Given the description of an element on the screen output the (x, y) to click on. 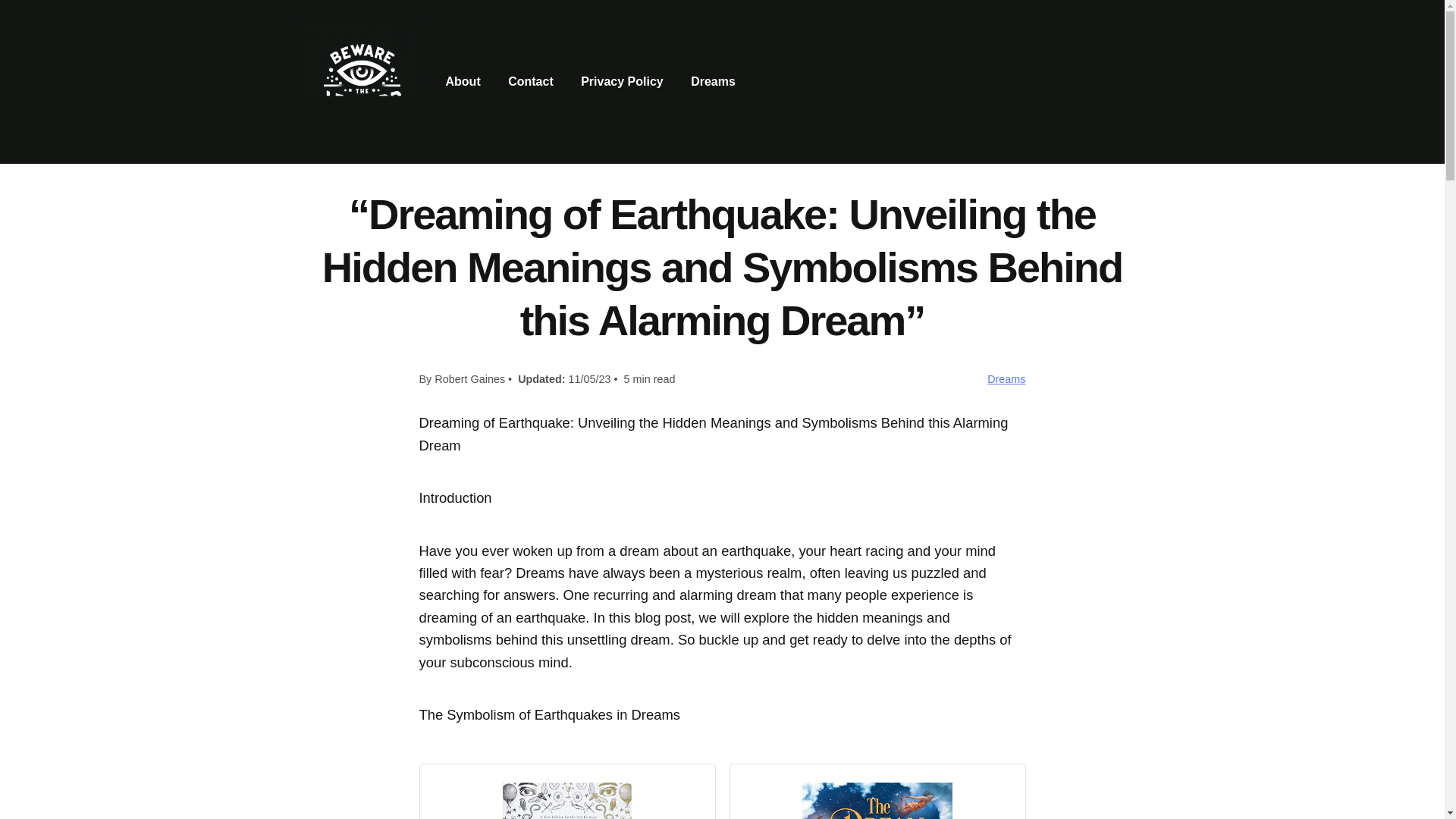
Dreams (1006, 378)
Contact (530, 81)
Privacy Policy (621, 81)
Dreams (712, 81)
About (462, 81)
